Given the description of an element on the screen output the (x, y) to click on. 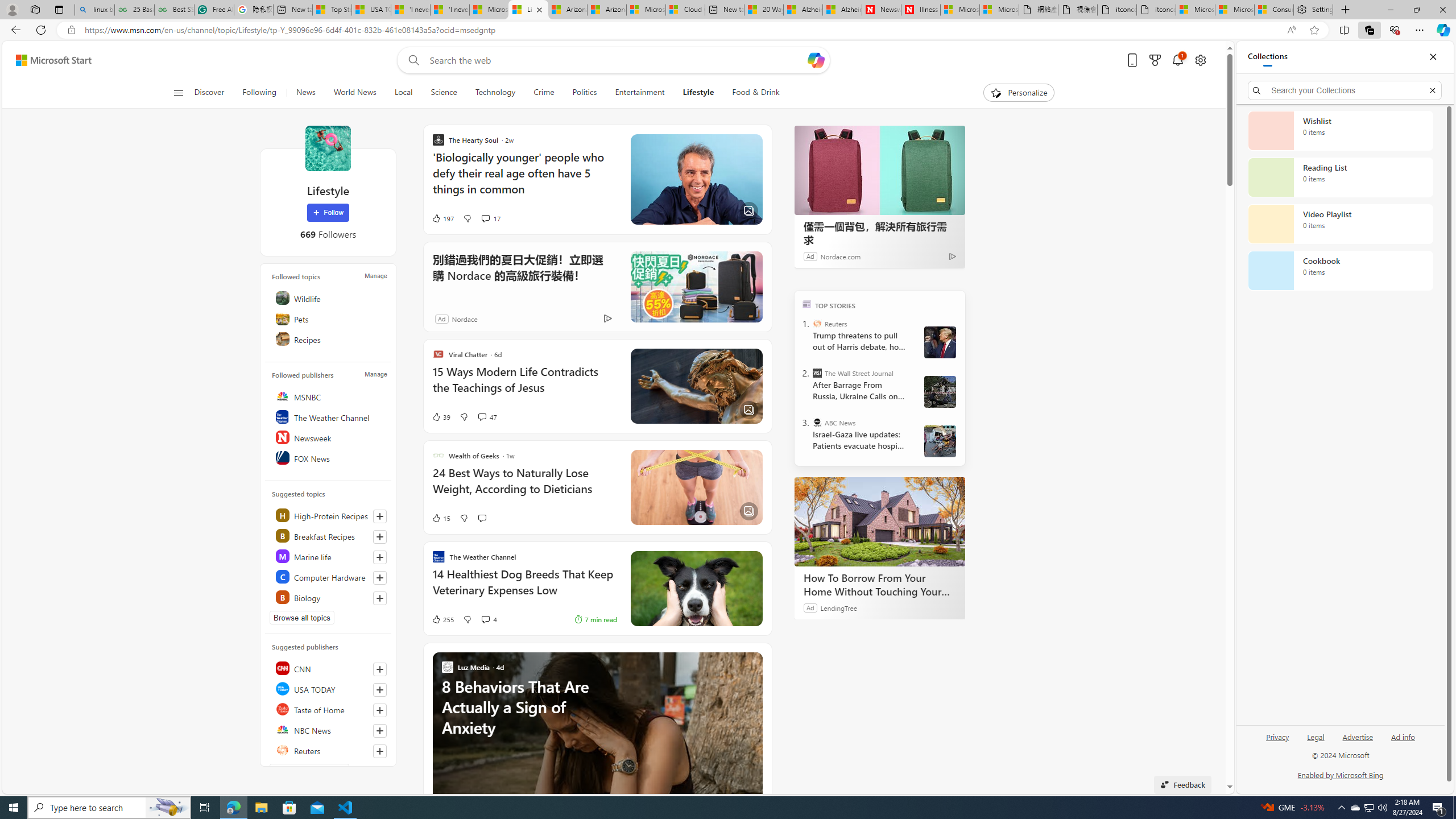
Ad Choice (606, 318)
Ad info (1402, 741)
Technology (495, 92)
Skip to footer (46, 59)
LendingTree (838, 607)
News (305, 92)
Personal Profile (12, 9)
Search your Collections (1345, 90)
Crime (543, 92)
How To Borrow From Your Home Without Touching Your Mortgage (879, 521)
Entertainment (639, 92)
